Given the description of an element on the screen output the (x, y) to click on. 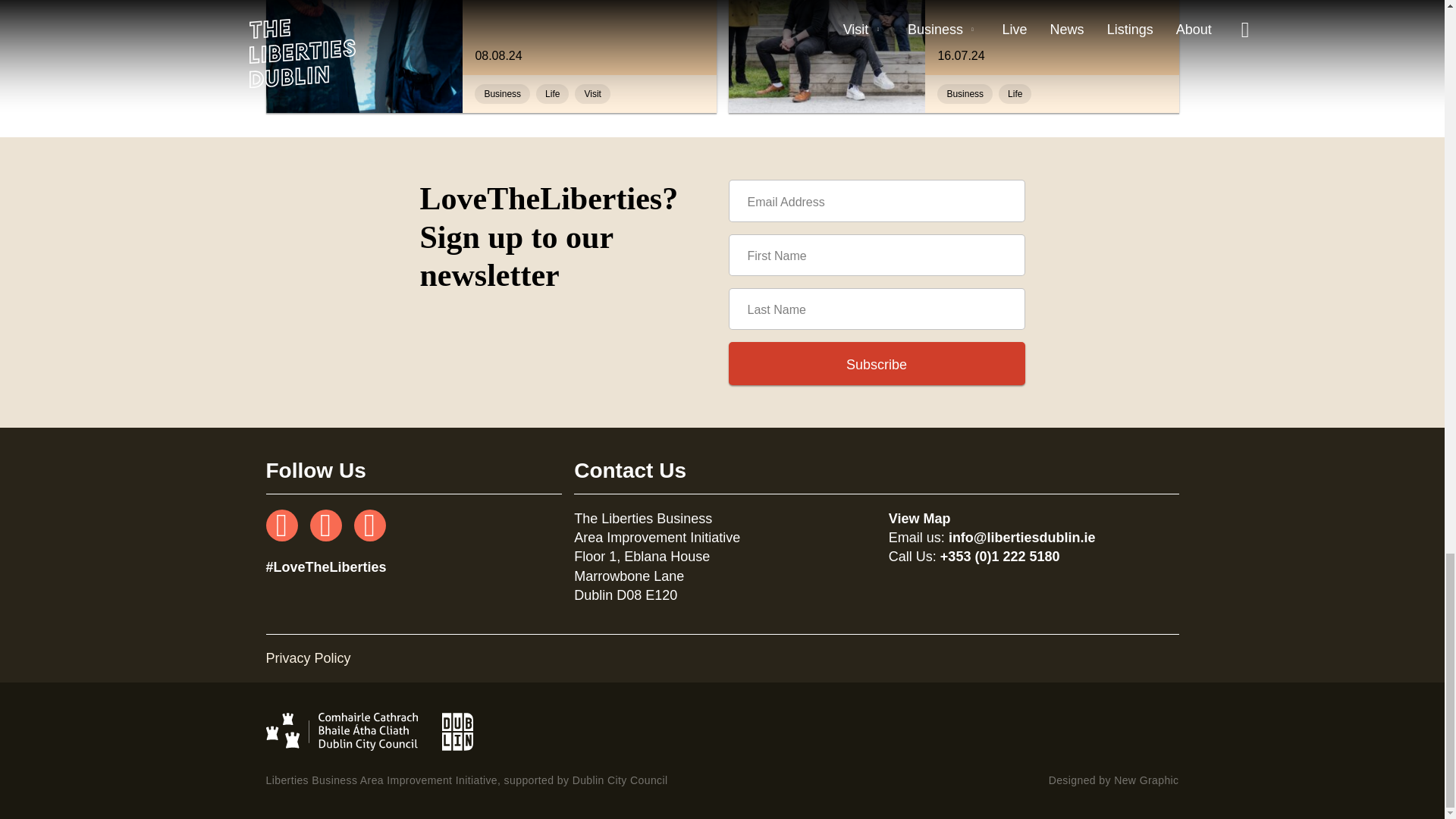
Business (501, 94)
Visit (592, 94)
Business (964, 94)
Subscribe (876, 363)
Email Address (876, 200)
Last Name (876, 309)
First Name (876, 255)
Life (1014, 94)
